Given the description of an element on the screen output the (x, y) to click on. 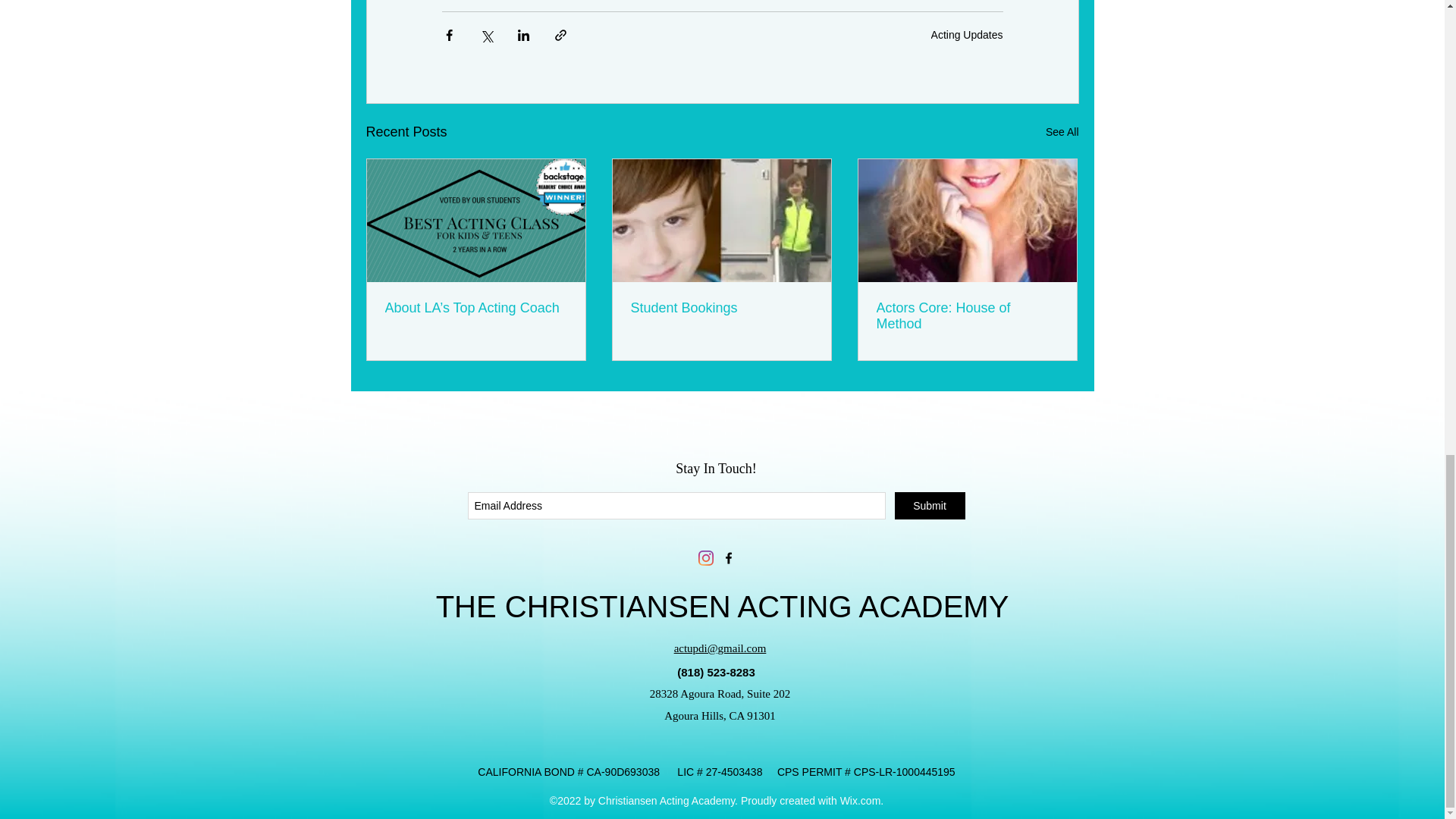
Submit (930, 505)
Acting Updates (967, 33)
See All (1061, 132)
Actors Core: House of Method (967, 316)
Student Bookings (721, 308)
